Given the description of an element on the screen output the (x, y) to click on. 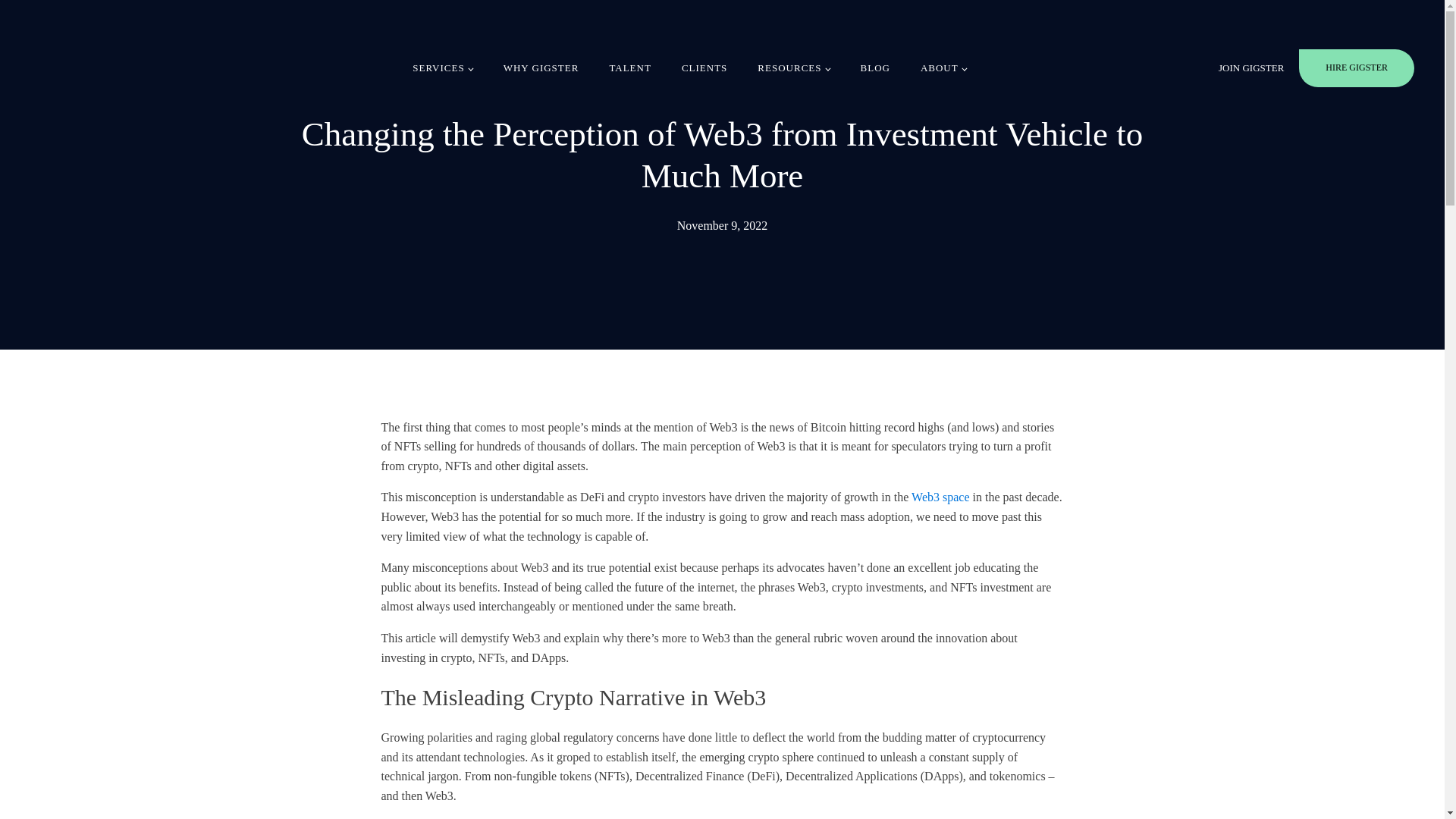
HIRE GIGSTER (1355, 67)
WHY GIGSTER (540, 68)
BLOG (875, 68)
RESOURCES (793, 68)
TALENT (630, 68)
ABOUT (943, 68)
Web3 space (940, 496)
SERVICES (442, 68)
JOIN GIGSTER (1251, 68)
CLIENTS (704, 68)
